Given the description of an element on the screen output the (x, y) to click on. 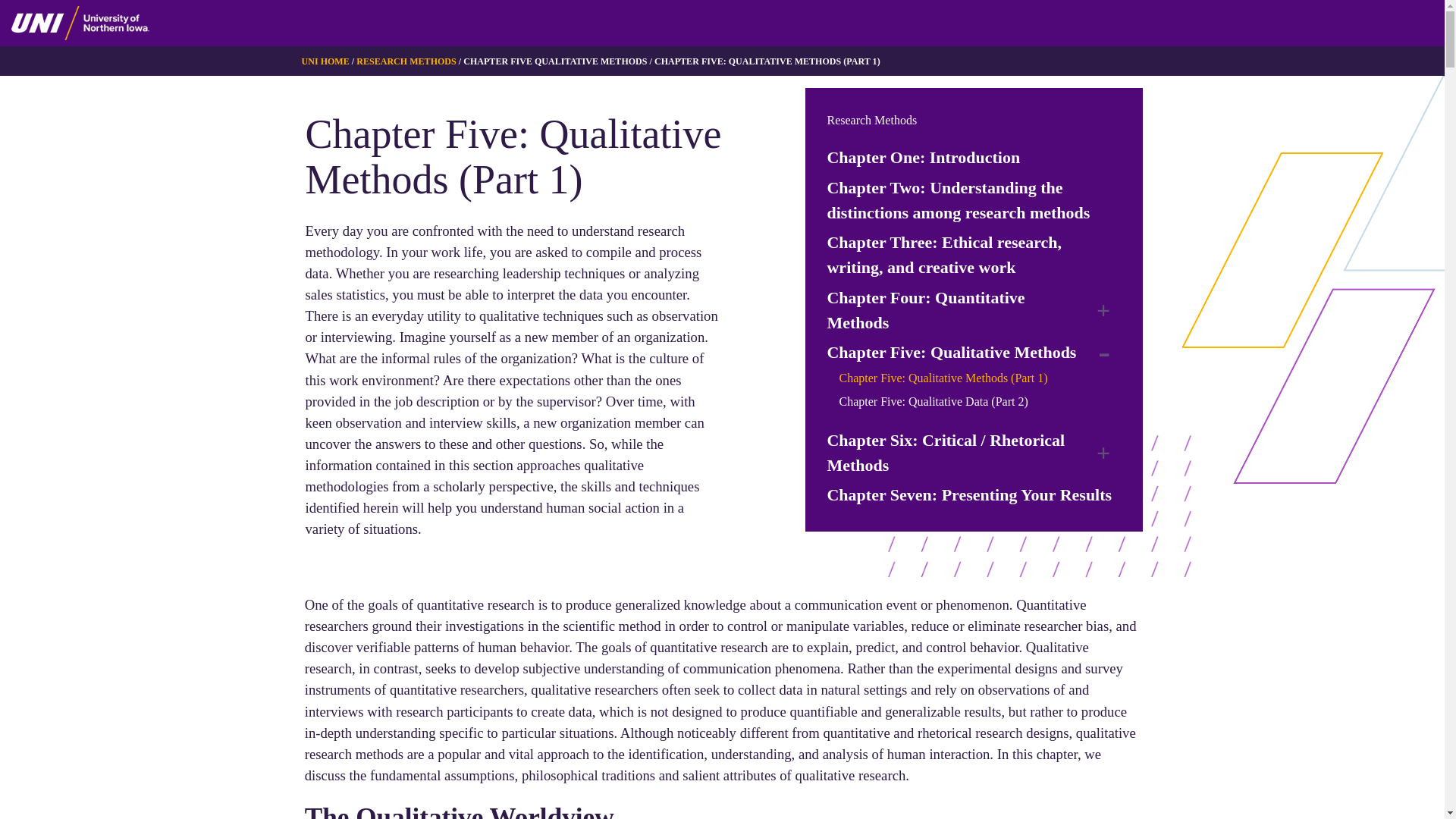
Chapter One: Introduction (923, 156)
Chapter Three: Ethical research, writing, and creative work (974, 254)
RESEARCH METHODS (406, 61)
Chapter Seven: Presenting Your Results (969, 494)
Research Methods (872, 119)
UNI HOME (325, 61)
